Given the description of an element on the screen output the (x, y) to click on. 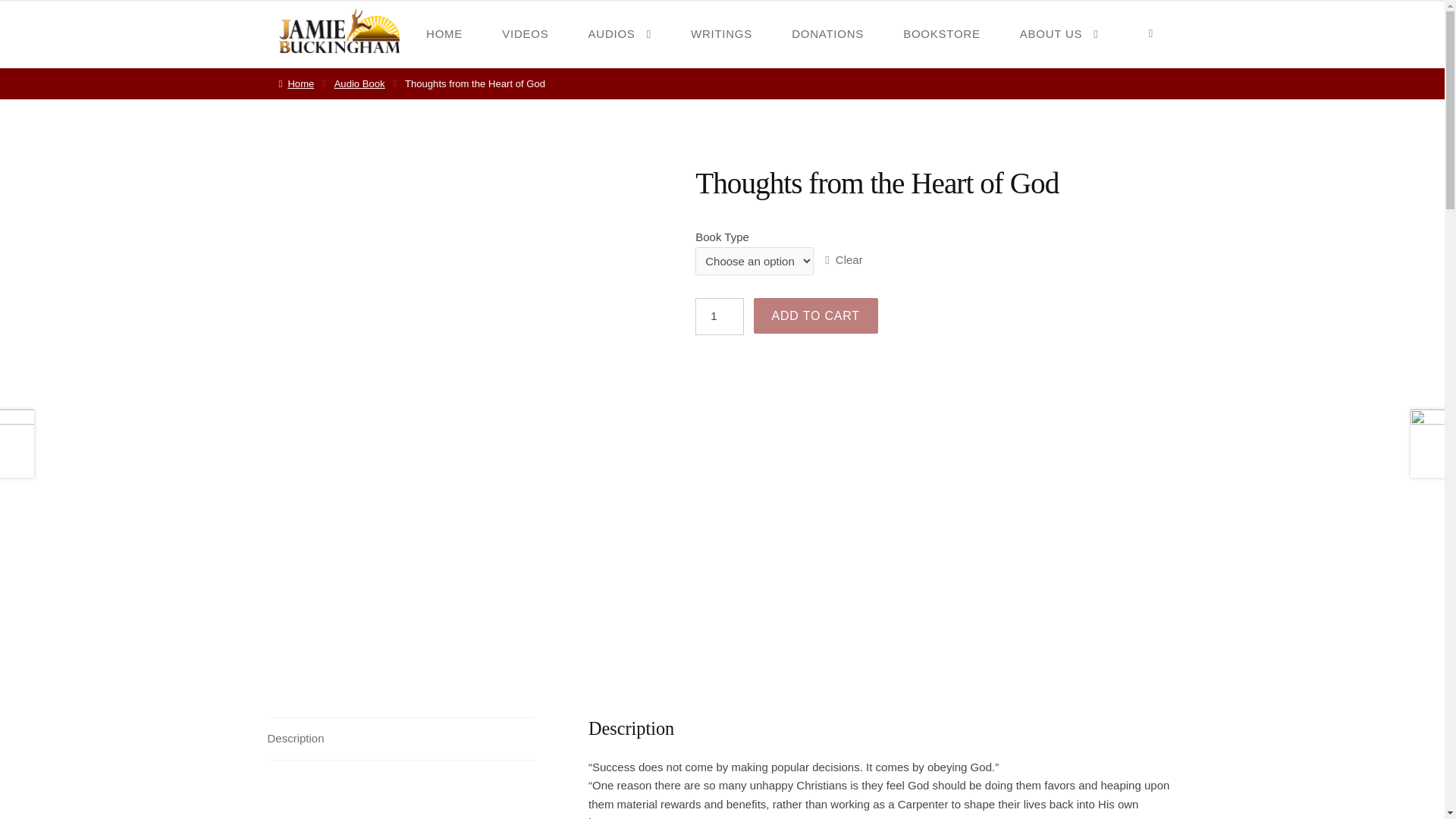
WRITINGS (721, 33)
HOME (443, 33)
ABOUT US (1058, 33)
VIDEOS (524, 33)
Audio Book (359, 83)
AUDIOS (619, 33)
View your shopping cart (1150, 33)
BOOKSTORE (941, 33)
DONATIONS (827, 33)
